Given the description of an element on the screen output the (x, y) to click on. 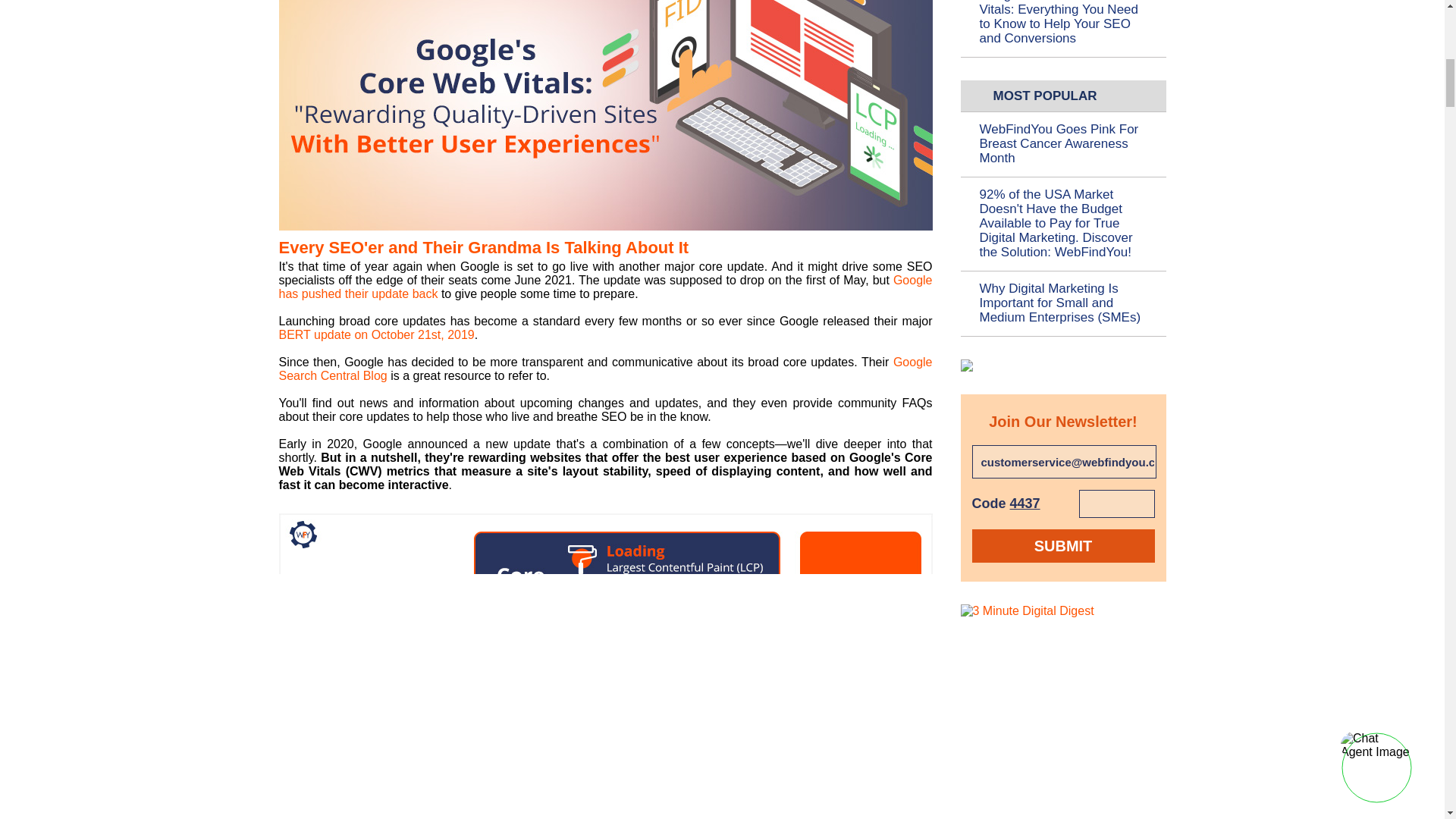
Submit (1063, 545)
